Given the description of an element on the screen output the (x, y) to click on. 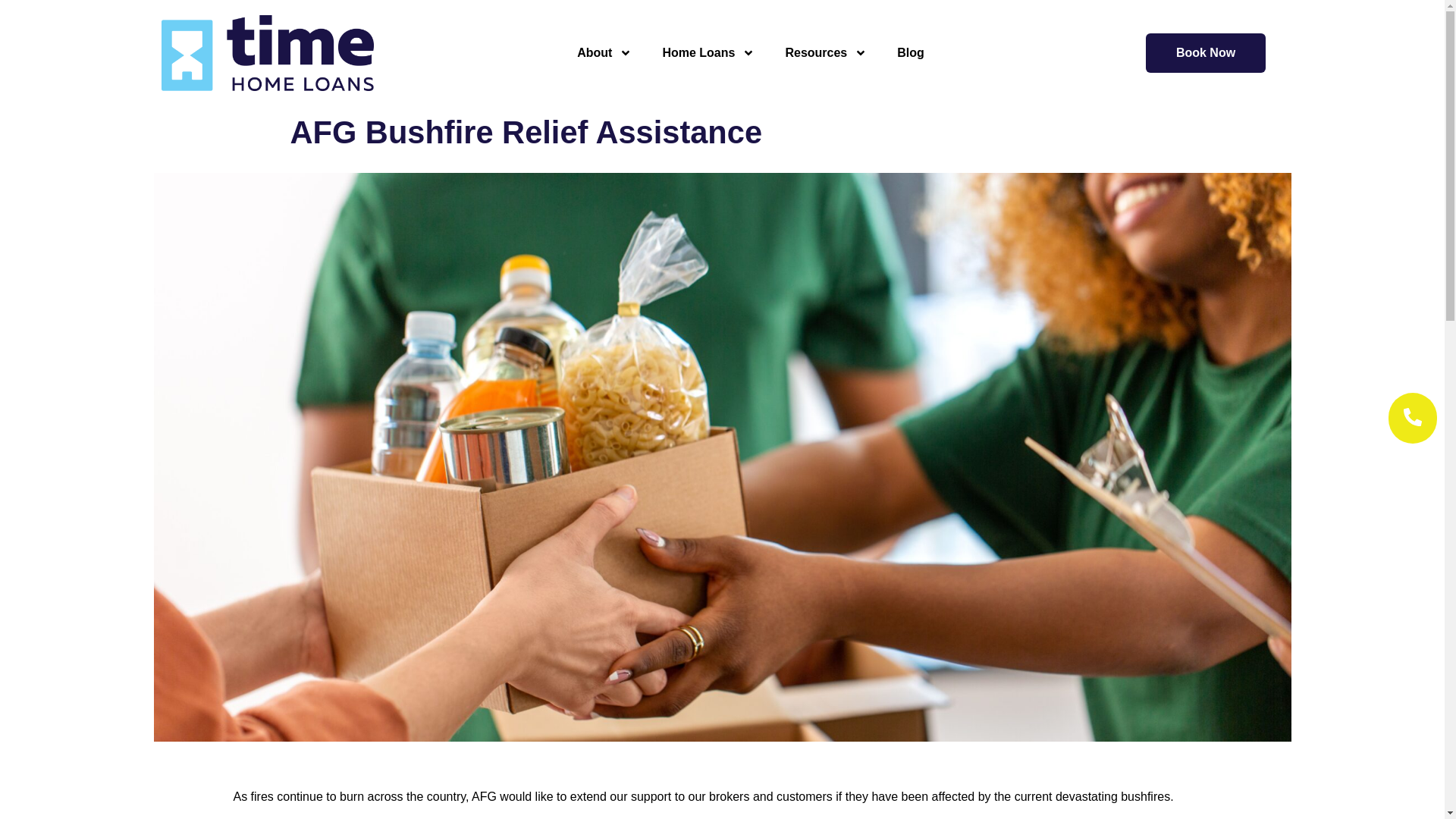
Home Loans (708, 53)
About (604, 53)
Resources (826, 53)
Home Loans (708, 53)
Resources (826, 53)
Blog (910, 53)
About (604, 53)
